Given the description of an element on the screen output the (x, y) to click on. 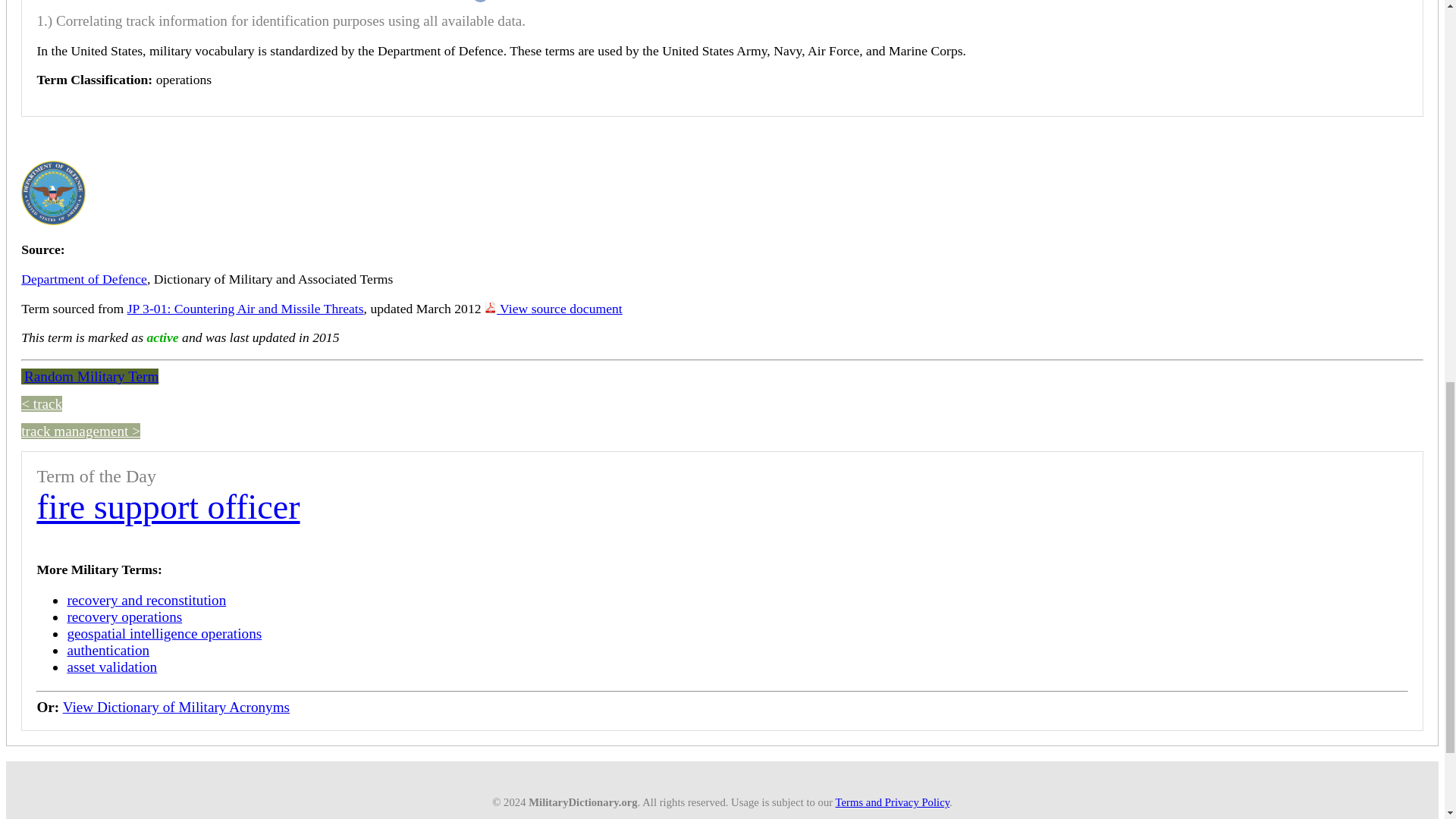
JP 3-01: Countering Air and Missile Threats (246, 308)
Random Military Term (89, 376)
View source document (553, 308)
Department of Defence (84, 278)
